Given the description of an element on the screen output the (x, y) to click on. 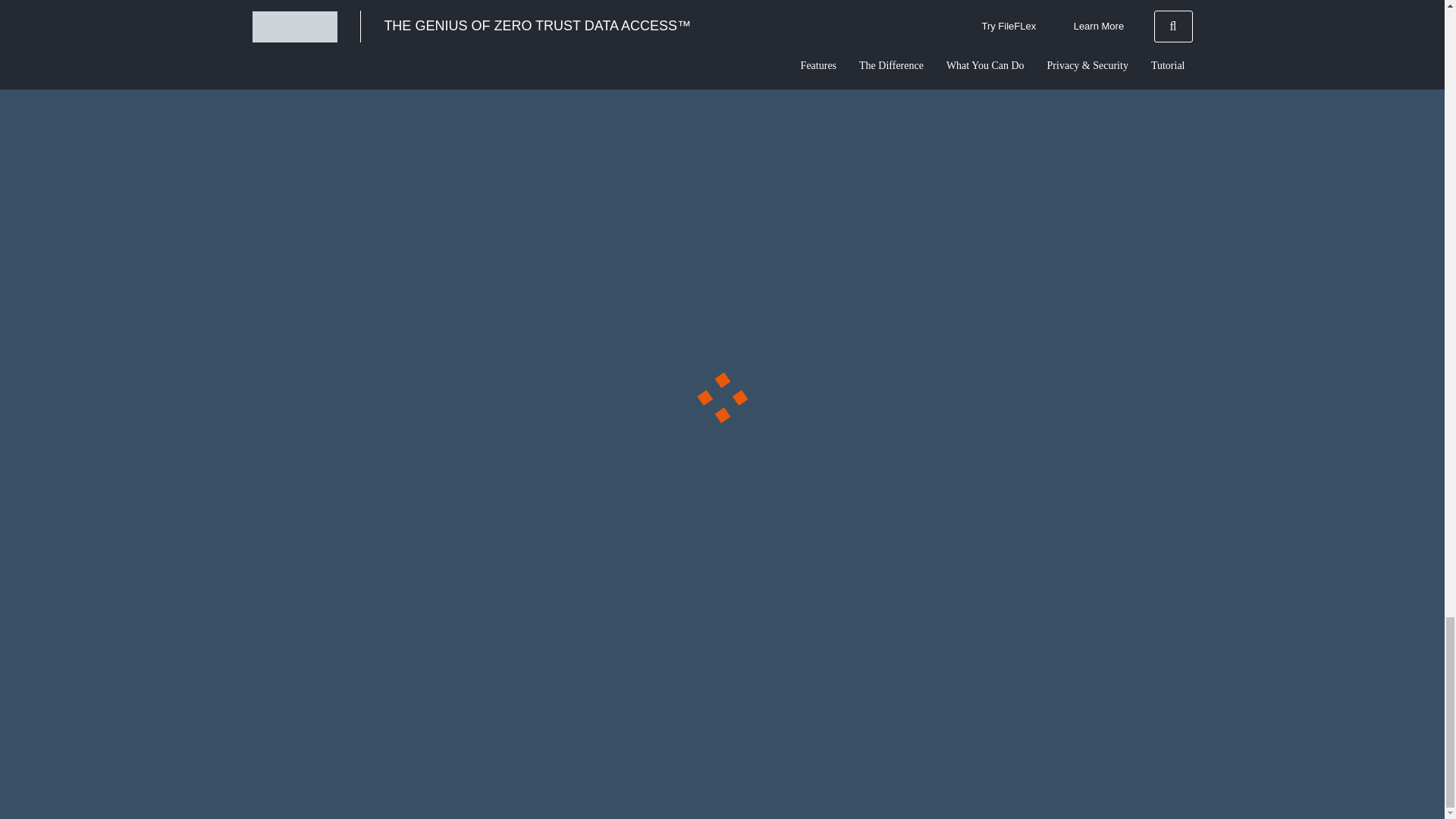
License Agreement (908, 778)
Legal (786, 778)
Privacy Policy (834, 778)
